Given the description of an element on the screen output the (x, y) to click on. 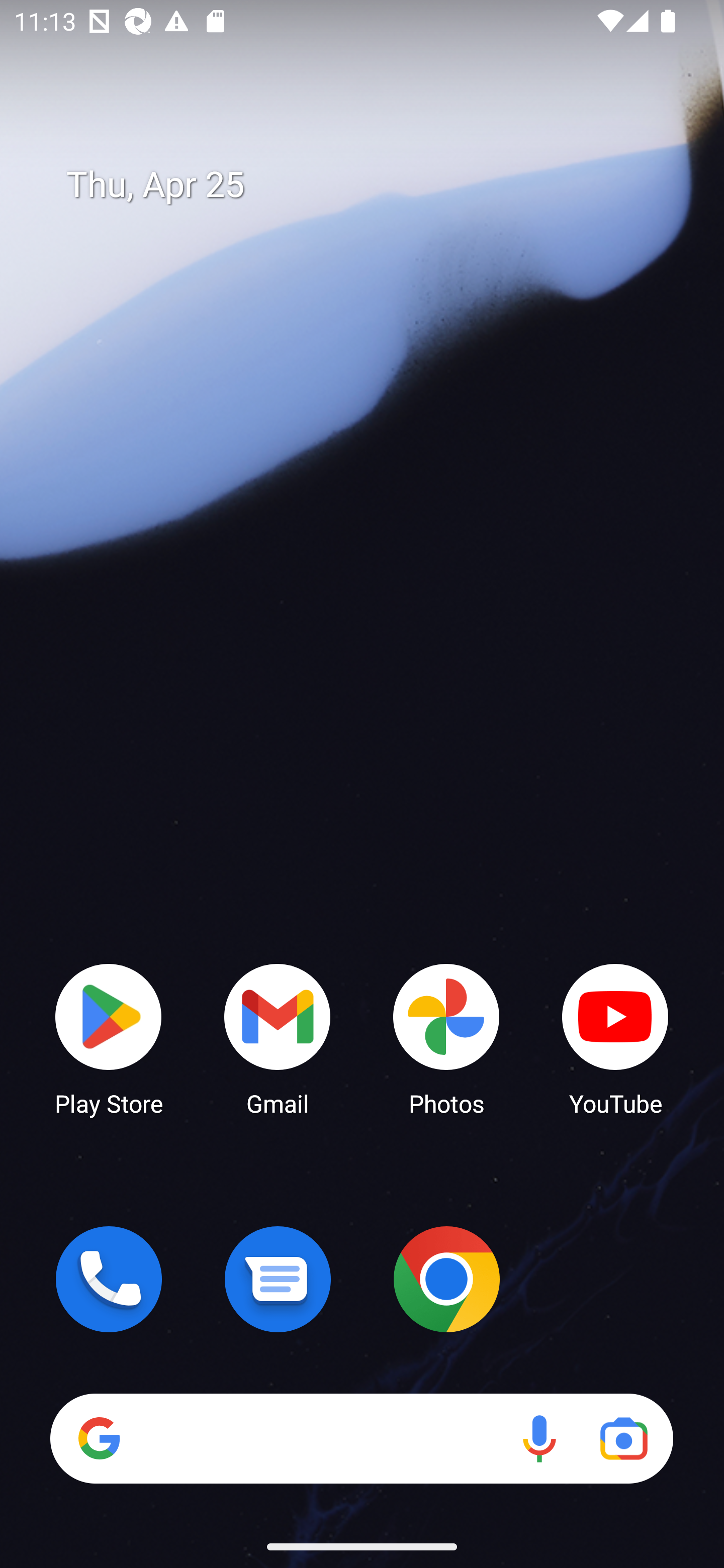
Thu, Apr 25 (375, 184)
Play Store (108, 1038)
Gmail (277, 1038)
Photos (445, 1038)
YouTube (615, 1038)
Phone (108, 1279)
Messages (277, 1279)
Chrome (446, 1279)
Search Voice search Google Lens (361, 1438)
Voice search (539, 1438)
Google Lens (623, 1438)
